Given the description of an element on the screen output the (x, y) to click on. 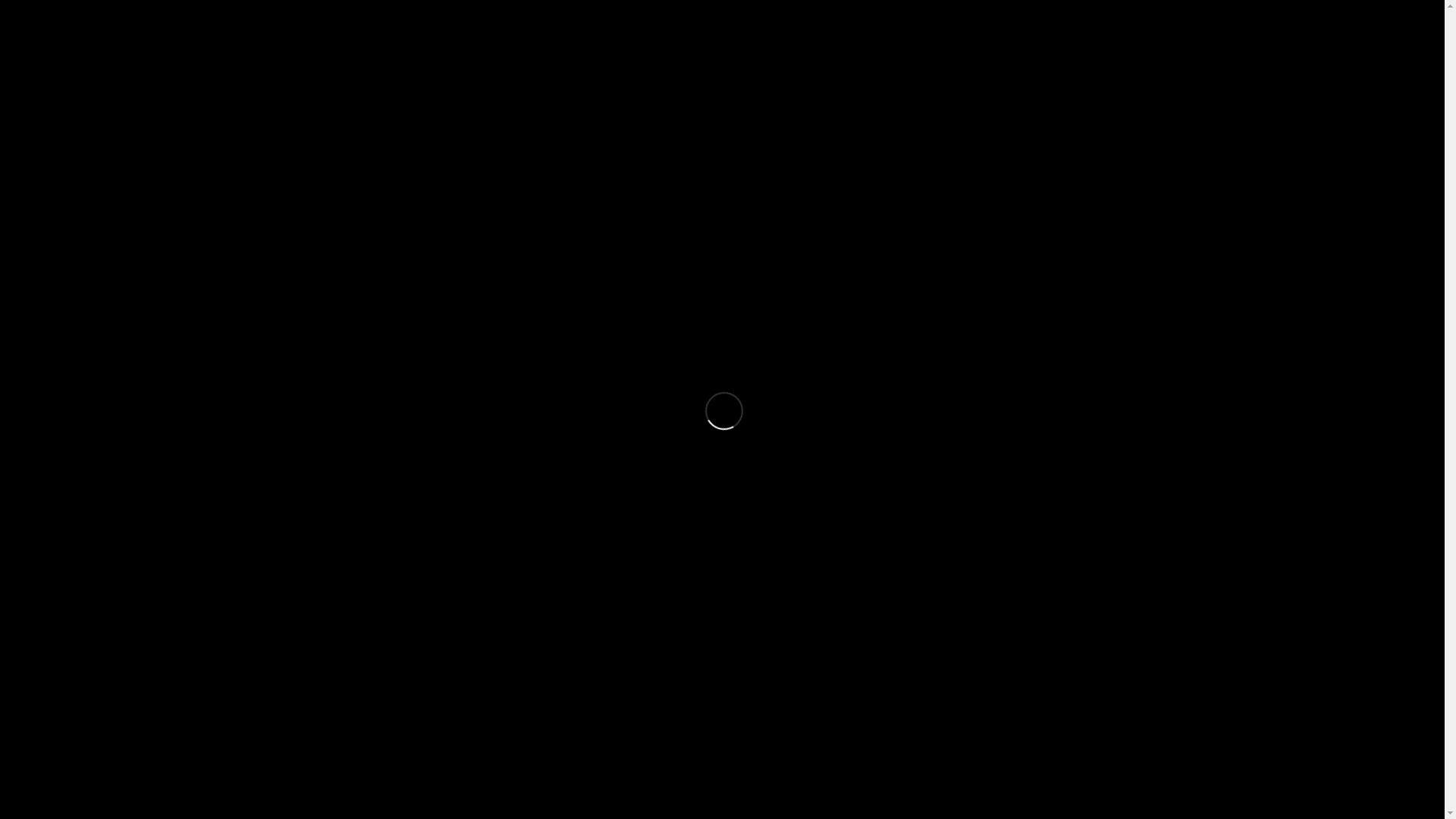
  Element type: text (11, 408)
CONTACT US Element type: text (1380, 559)
  Element type: text (25, 408)
